Given the description of an element on the screen output the (x, y) to click on. 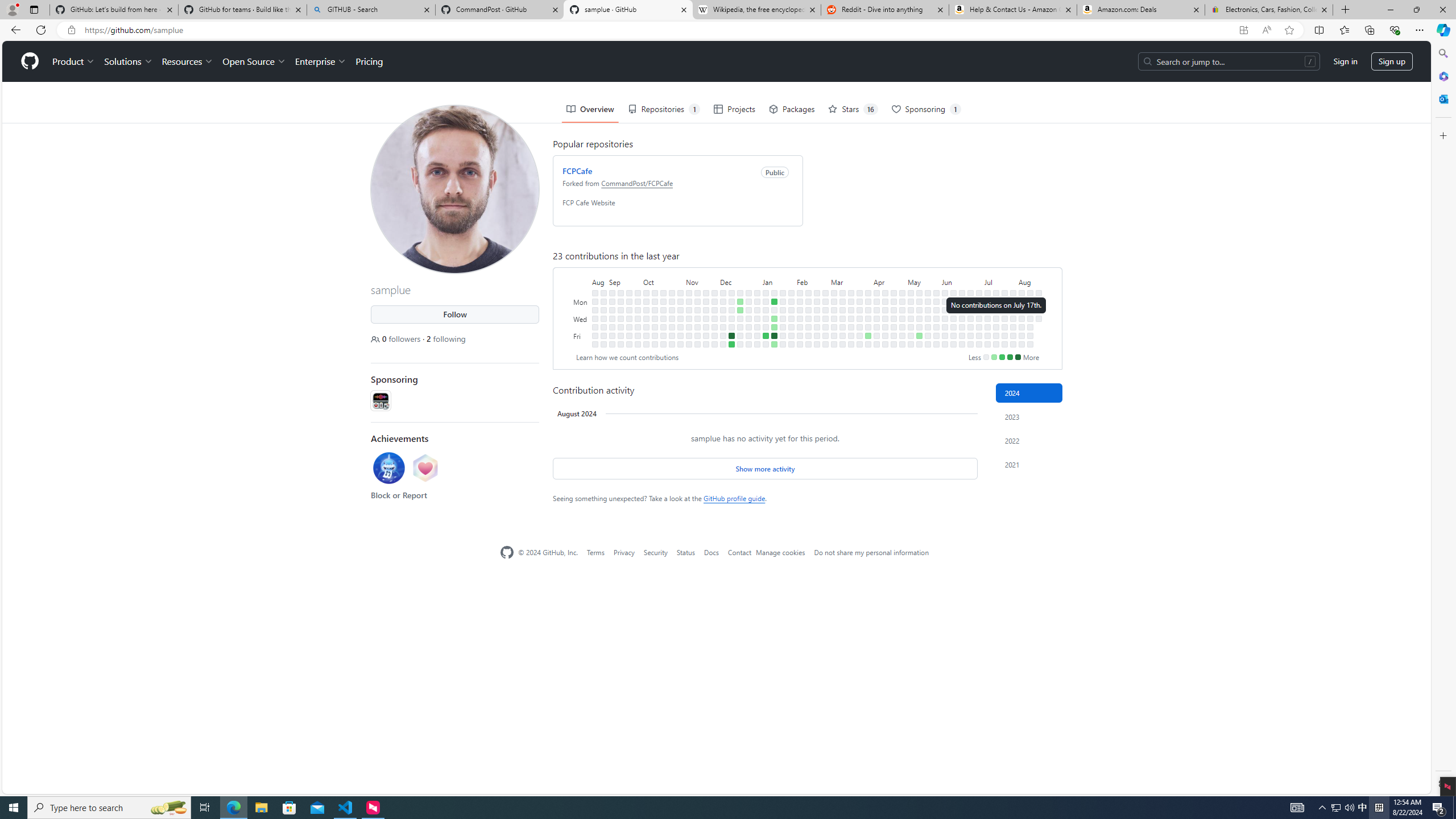
No contributions on March 15th. (842, 335)
1 contribution on January 20th. (774, 343)
No contributions on May 6th. (910, 301)
No contributions on July 3rd. (978, 318)
No contributions on October 20th. (663, 335)
No contributions on September 10th. (620, 292)
No contributions on December 9th. (723, 343)
No contributions on September 17th. (628, 292)
No contributions on June 1st. (936, 343)
No contributions on April 23rd. (893, 309)
No contributions on April 12th. (876, 335)
No contributions on February 26th. (825, 301)
No contributions on November 11th. (688, 343)
Projects (734, 108)
